Given the description of an element on the screen output the (x, y) to click on. 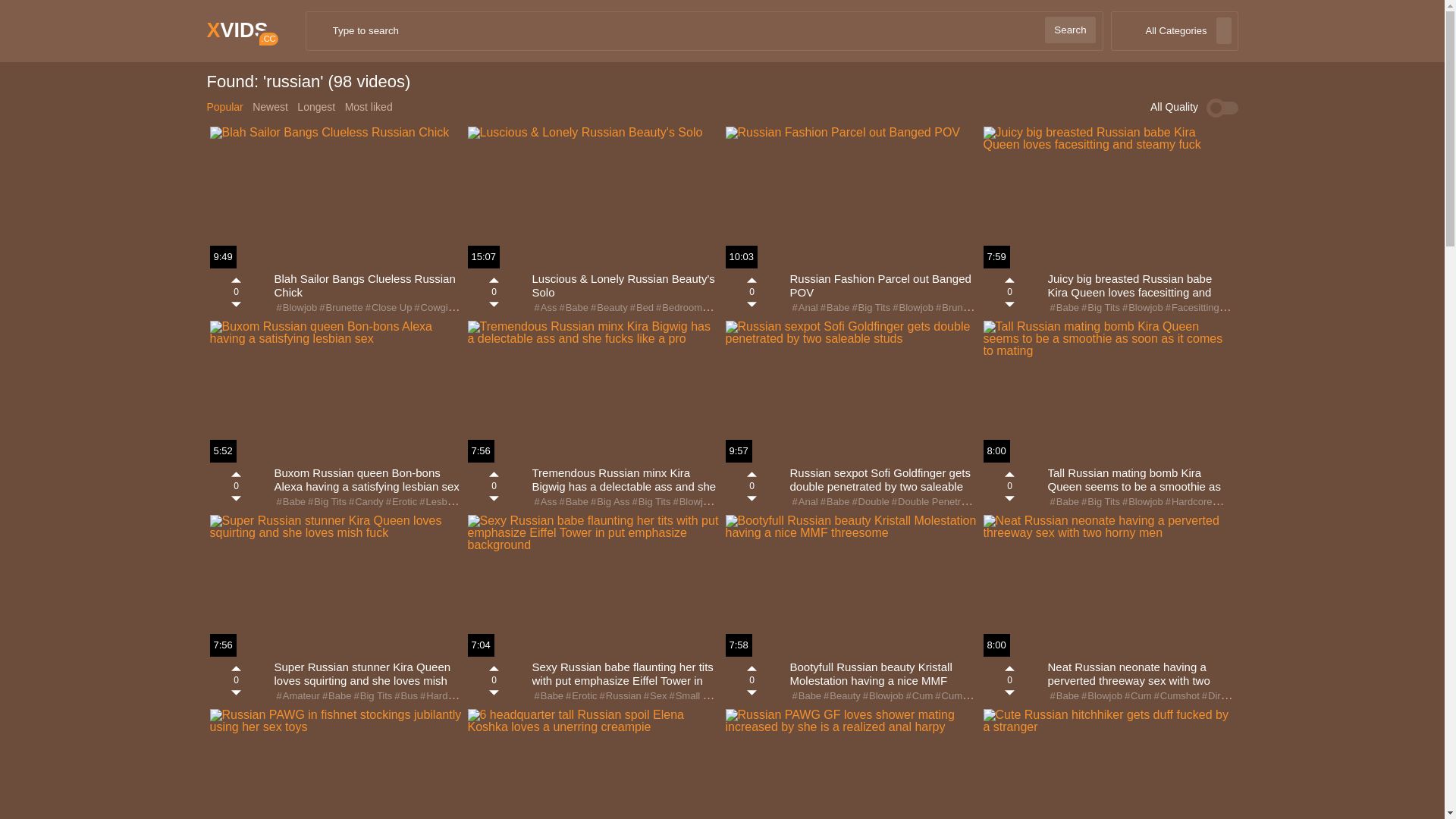
Babe Element type: text (834, 307)
Babe Element type: text (806, 695)
Russian Element type: text (1233, 501)
Facesitting Element type: text (1191, 307)
Blowjob Element type: text (1100, 695)
Babe Element type: text (572, 501)
Babe Element type: text (1063, 501)
Blah Sailor Bangs Clueless Russian Chick Element type: text (367, 286)
Popular Element type: text (224, 106)
Search X Videos Element type: hover (704, 30)
Hardcore Element type: text (1243, 307)
Small Tits Element type: text (692, 695)
Hardcore Element type: text (1252, 695)
Amateur Element type: text (297, 695)
Blowjob Element type: text (691, 501)
Double Element type: text (868, 501)
Erotic Element type: text (400, 501)
Big Tits Element type: text (869, 307)
Anal Element type: text (804, 307)
Hardcore Element type: text (442, 695)
Candy Element type: text (364, 501)
Beauty Element type: text (607, 307)
Russian Fashion Parcel out Banged POV Element type: text (883, 286)
Erotic Element type: text (579, 695)
Babe Element type: text (548, 695)
All Categories Element type: text (1174, 30)
Babe Element type: text (834, 501)
Big Tits Element type: text (325, 501)
Big Tits Element type: text (1099, 501)
Blowjob Element type: text (1141, 501)
Russian Element type: text (619, 695)
Bed Element type: text (640, 307)
Double Penetration Element type: text (935, 501)
Lesbian Element type: text (438, 501)
Big Tits Element type: text (650, 501)
Brunette Element type: text (956, 307)
Blowjob Element type: text (881, 695)
Babe Element type: text (335, 695)
Cumshot Element type: text (1175, 695)
Hardcore Element type: text (737, 501)
Big Ass Element type: text (609, 501)
Cowgirl Element type: text (432, 307)
Blowjob Element type: text (1141, 307)
Ass Element type: text (544, 307)
Hardcore Element type: text (1187, 501)
Babe Element type: text (290, 501)
Cum Element type: text (918, 695)
Russian Element type: text (482, 501)
Blowjob Element type: text (295, 307)
Blowjob Element type: text (911, 307)
Bedroom Element type: text (677, 307)
Babe Element type: text (1063, 695)
Search Element type: text (1069, 29)
Anal Element type: text (804, 501)
Babe Element type: text (1063, 307)
Brunette Element type: text (339, 307)
Babe Element type: text (572, 307)
Big Tits Element type: text (1099, 307)
Newest Element type: text (270, 106)
Bus Element type: text (404, 695)
Ass Element type: text (544, 501)
Big Tits Element type: text (371, 695)
Cum Element type: text (1136, 695)
Tits Element type: text (730, 695)
XVIDS
.CC Element type: text (236, 30)
Dirty Element type: text (1213, 695)
Sex Element type: text (654, 695)
Facesitting Element type: text (481, 307)
Luscious & Lonely Russian Beauty's Solo Element type: text (625, 286)
Close Up Element type: text (387, 307)
Big Ass Element type: text (722, 307)
Most liked Element type: text (368, 106)
Cumshot Element type: text (956, 695)
Longest Element type: text (316, 106)
Beauty Element type: text (840, 695)
